Given the description of an element on the screen output the (x, y) to click on. 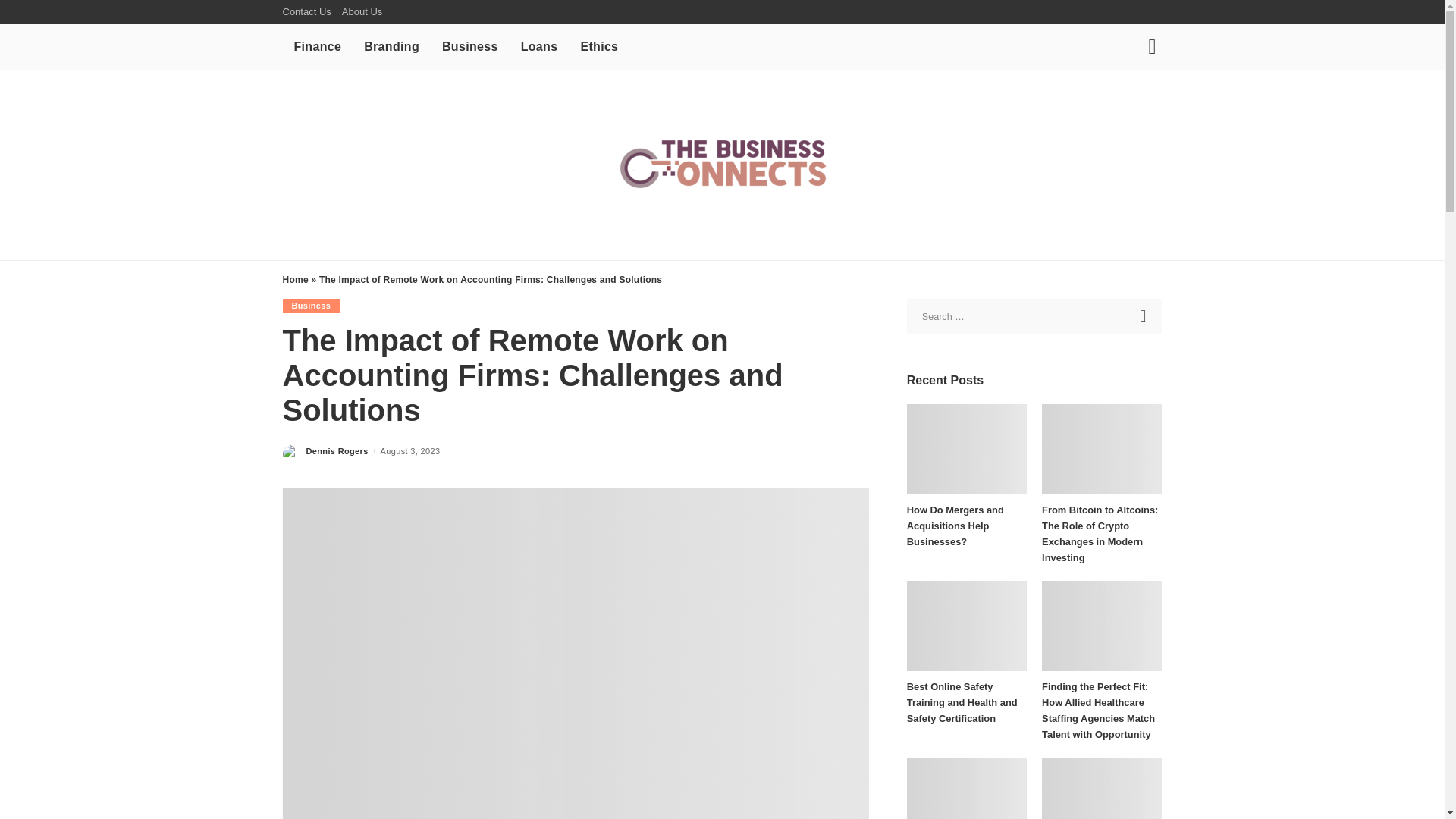
Search (1143, 315)
Finance (317, 46)
The Business Connects (721, 164)
Search (1143, 315)
Business (310, 305)
Loans (539, 46)
Branding (391, 46)
Ethics (598, 46)
Business (469, 46)
